Given the description of an element on the screen output the (x, y) to click on. 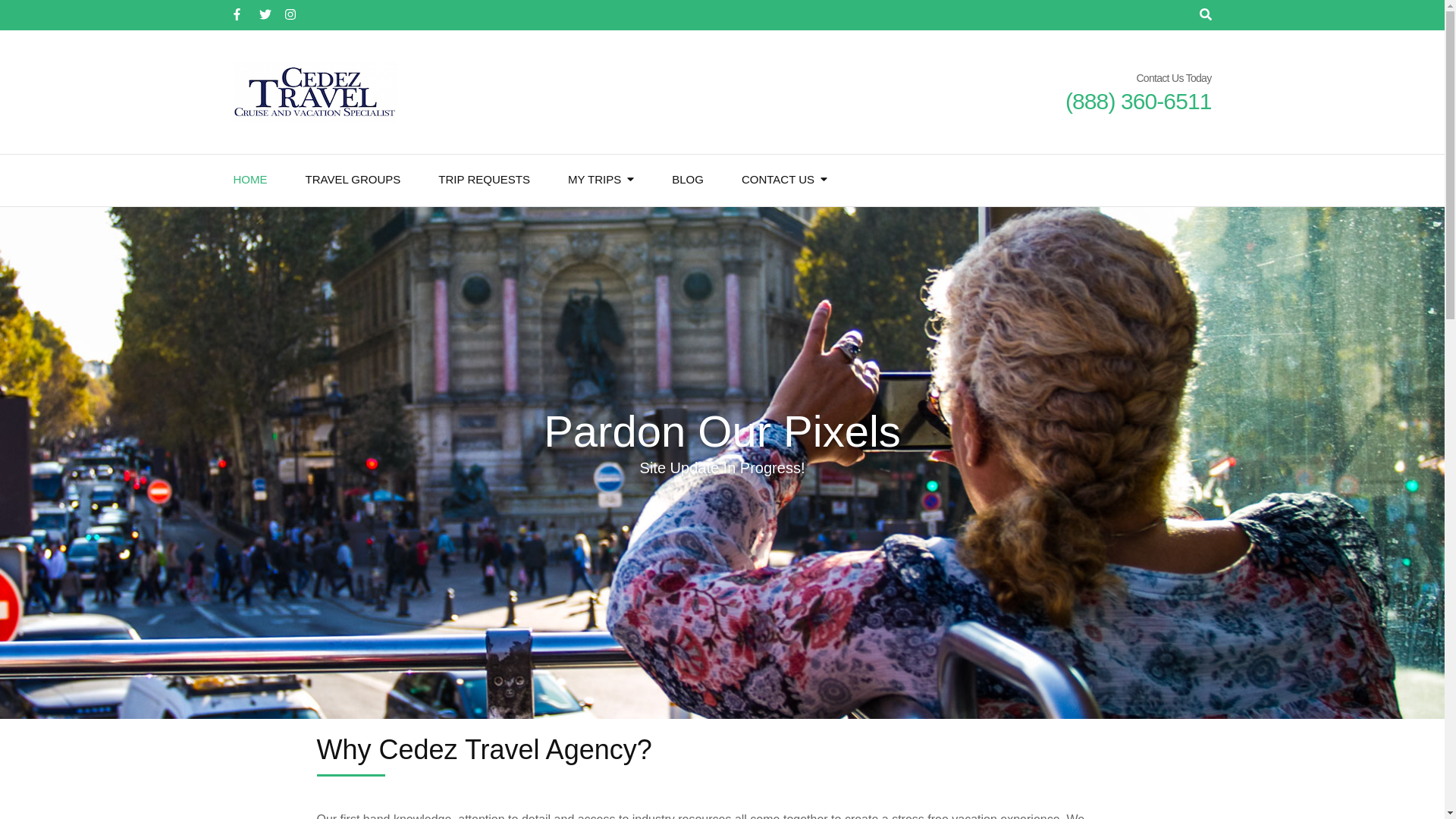
CONTACT US (777, 180)
MY TRIPS (594, 180)
TRIP REQUESTS (483, 180)
TRAVEL GROUPS (352, 180)
